Given the description of an element on the screen output the (x, y) to click on. 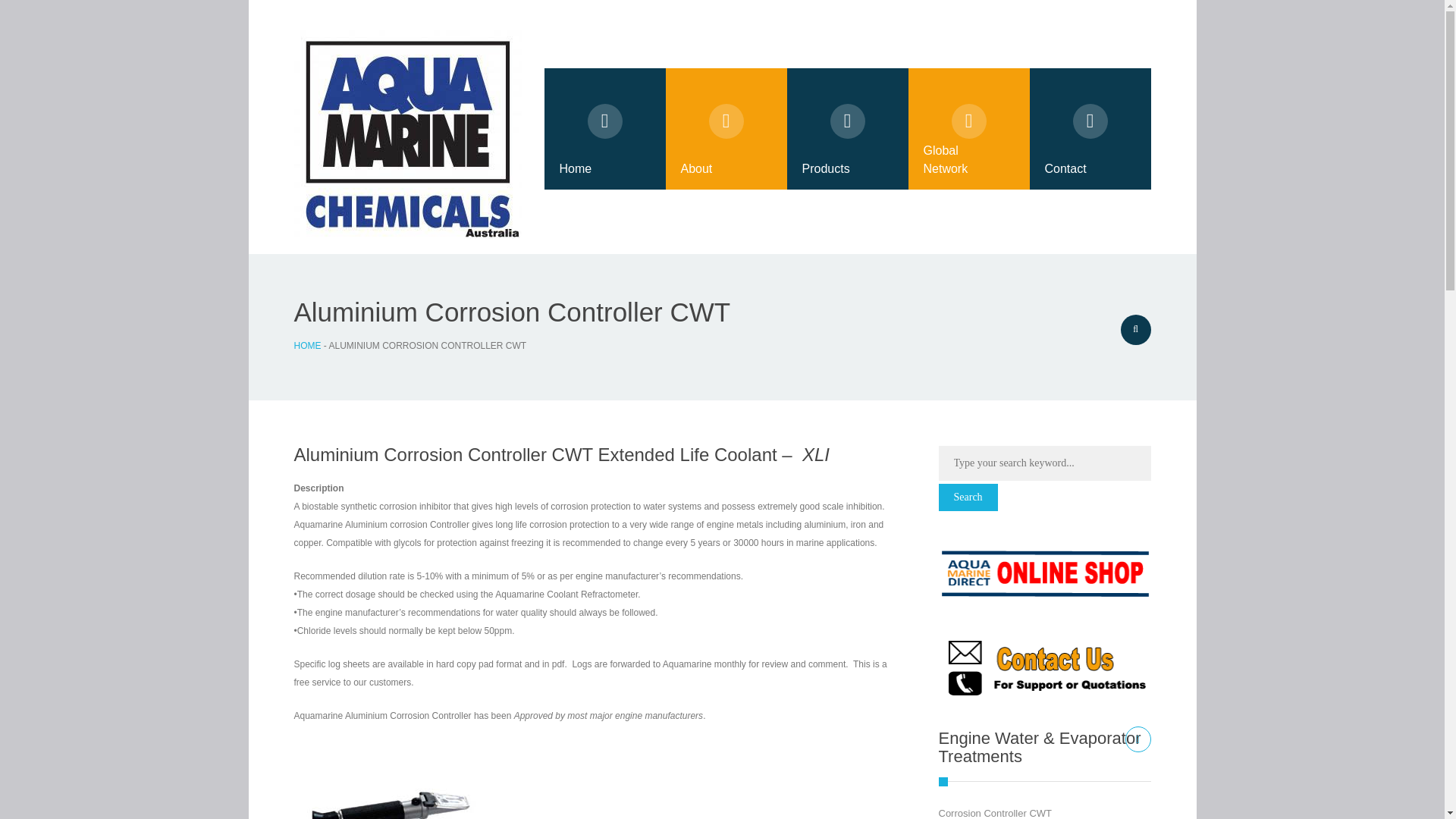
HOME (307, 345)
About (726, 128)
Global Network (968, 128)
Home (604, 128)
Products (847, 128)
Search (968, 497)
Contact (1090, 128)
Search (968, 497)
Australia Aqua Marine Chemicals (407, 134)
Corrosion Controller CWT (995, 813)
